Given the description of an element on the screen output the (x, y) to click on. 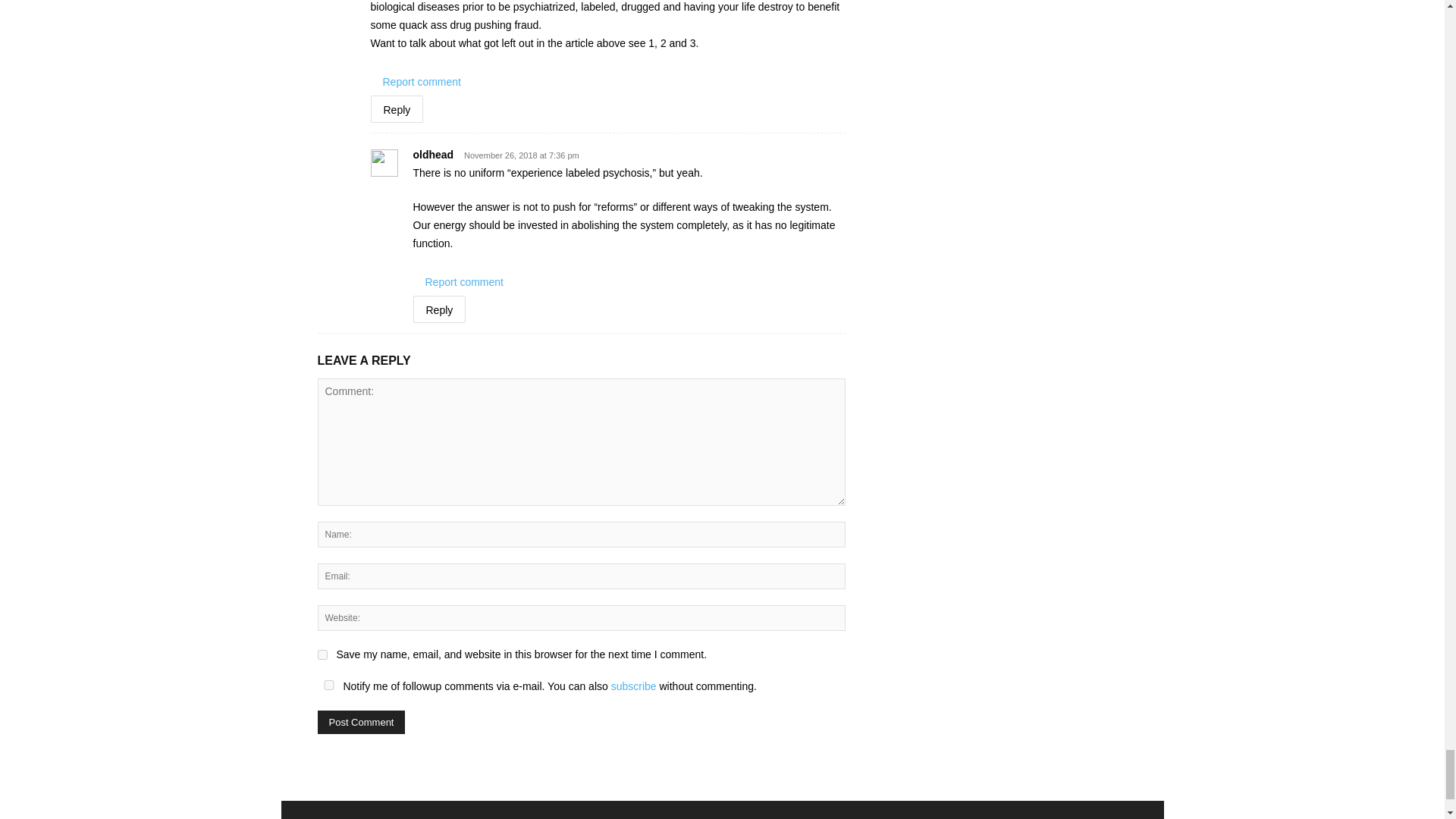
yes (321, 655)
Post Comment (360, 721)
yes (328, 685)
